Given the description of an element on the screen output the (x, y) to click on. 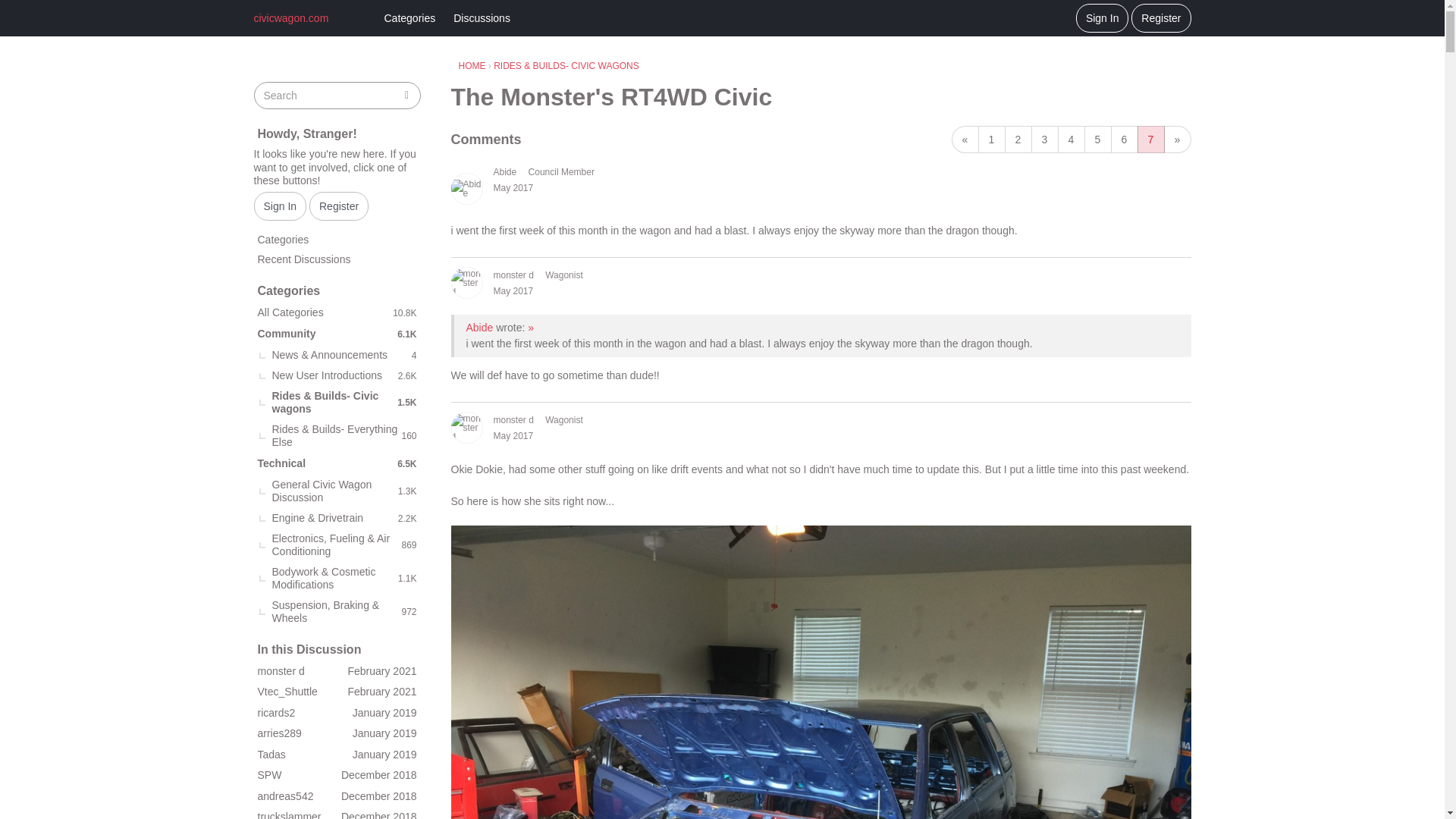
Abide (465, 188)
Categories (409, 17)
2 (1017, 139)
3 (1044, 139)
Register (1161, 18)
May 2017 (512, 290)
4 (1070, 139)
1 (992, 139)
May 2017 (512, 435)
civicwagon.com (313, 17)
May 30, 2017 7:19PM (512, 290)
Discussions (481, 17)
May 30, 2017 7:26PM (512, 435)
HOME (471, 65)
monster d (512, 419)
